Given the description of an element on the screen output the (x, y) to click on. 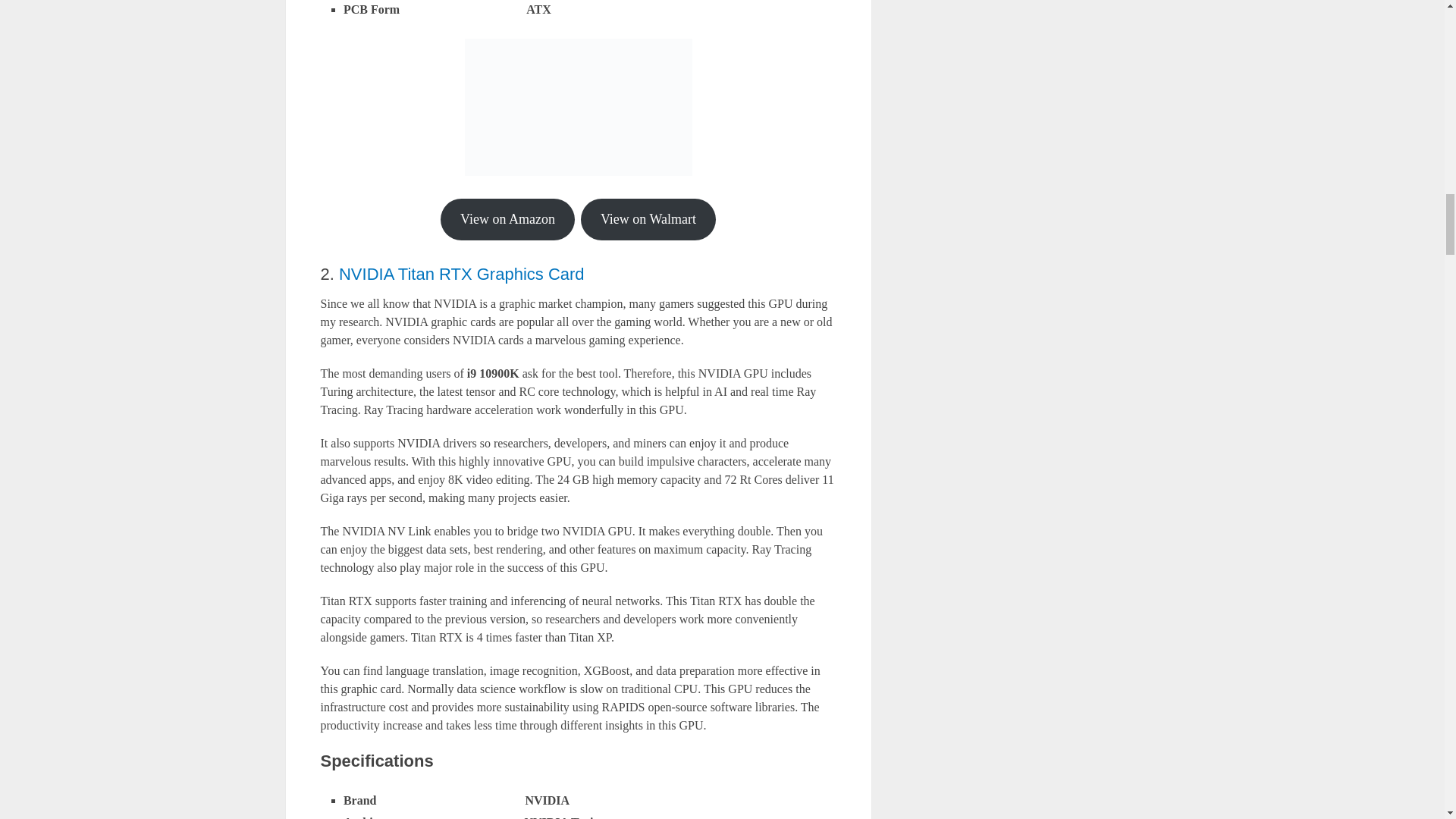
NVIDIA Titan RTX Graphics Card (462, 273)
View on Walmart (648, 219)
View on Amazon (508, 219)
